Given the description of an element on the screen output the (x, y) to click on. 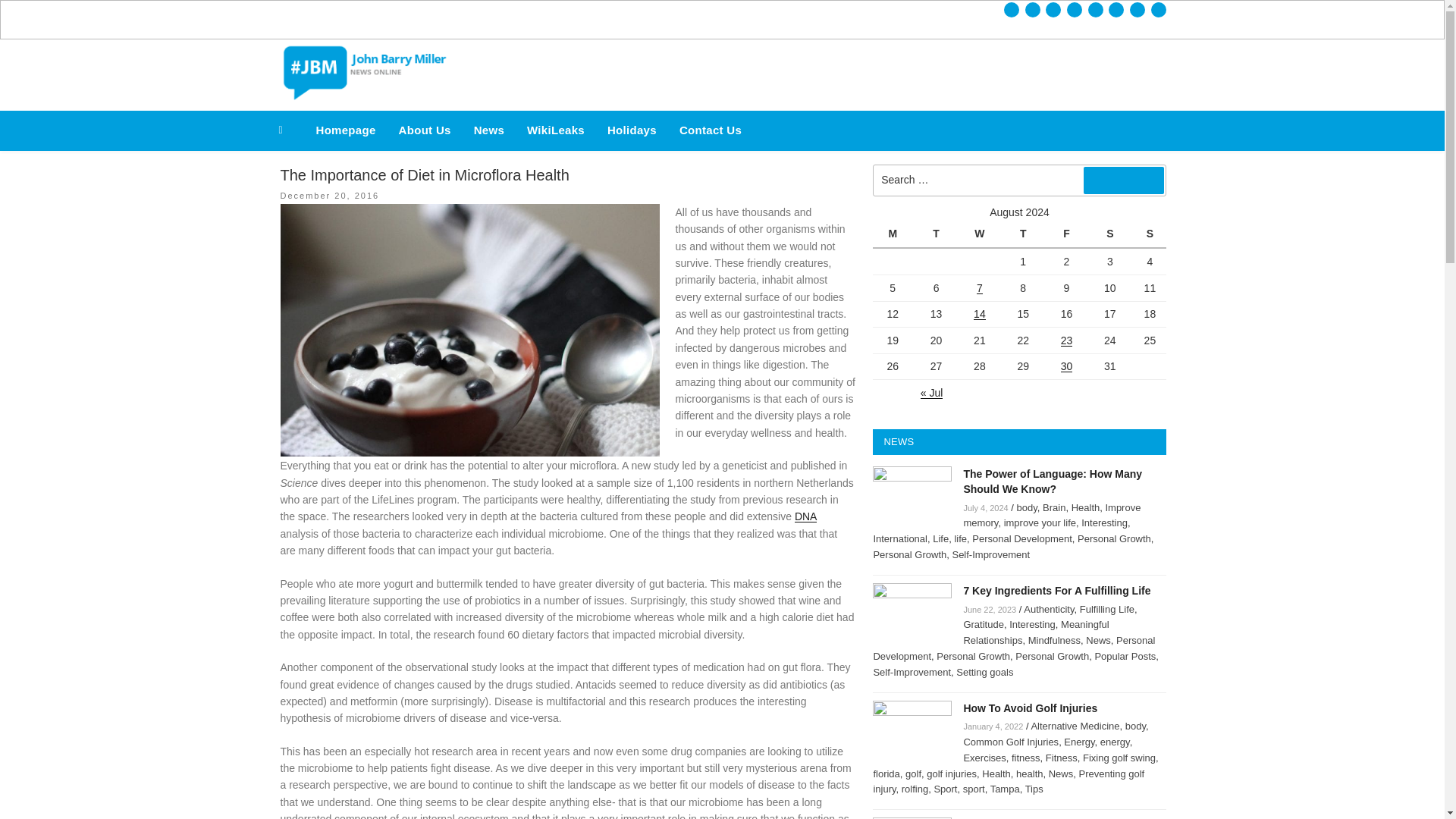
Monday (893, 234)
Holidays (631, 130)
improve your life (1039, 522)
Thursday (1024, 234)
body (1026, 507)
30 (1067, 366)
flickr (1116, 9)
tumblr (1136, 9)
instagram (1095, 9)
body (1026, 507)
